Given the description of an element on the screen output the (x, y) to click on. 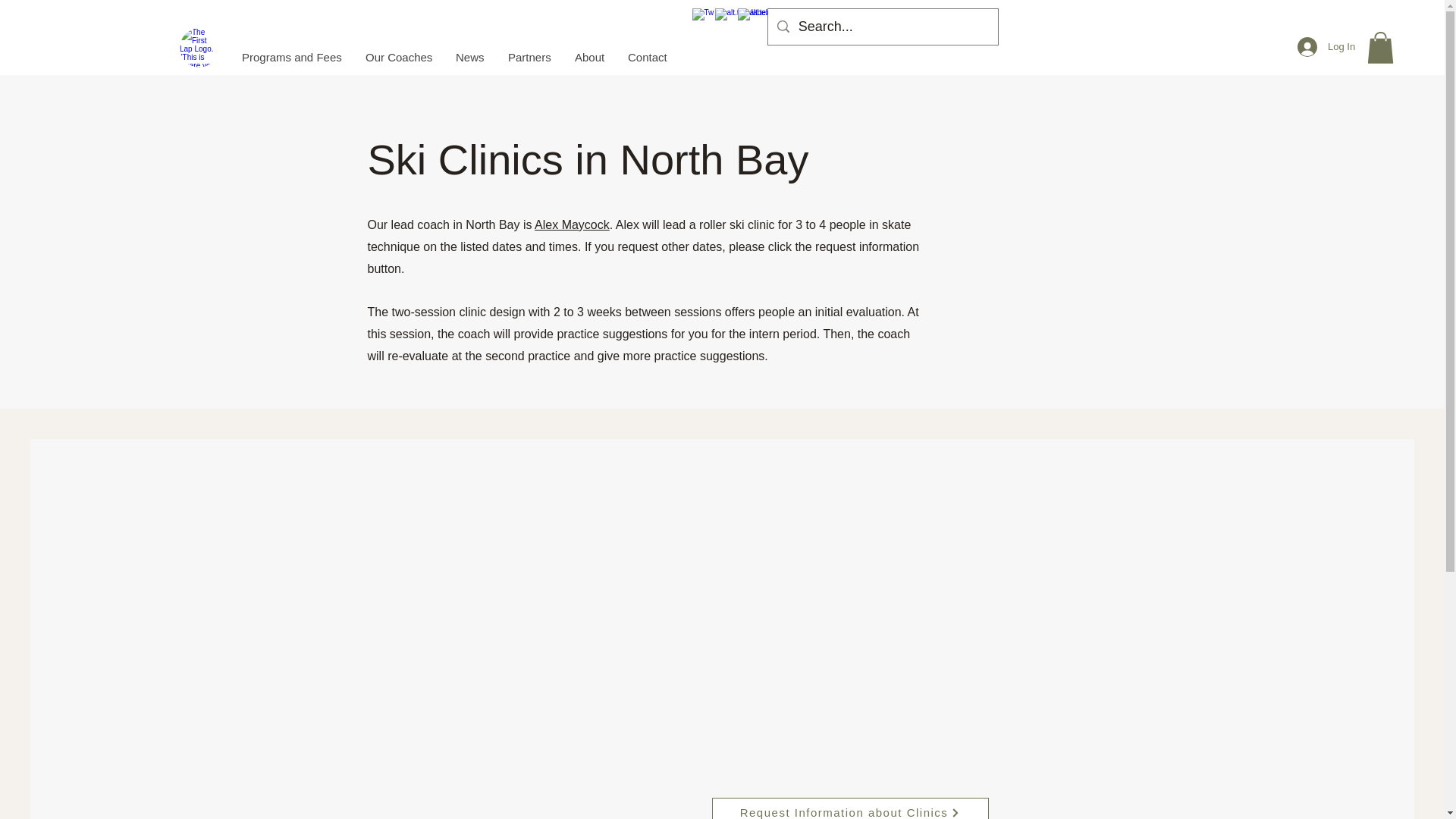
Contact (646, 57)
Alex Maycock (572, 224)
Our Coaches (398, 57)
Request Information about Clinics (849, 808)
About (588, 57)
Log In (1321, 46)
Programs and Fees (291, 57)
News (470, 57)
Partners (529, 57)
